Given the description of an element on the screen output the (x, y) to click on. 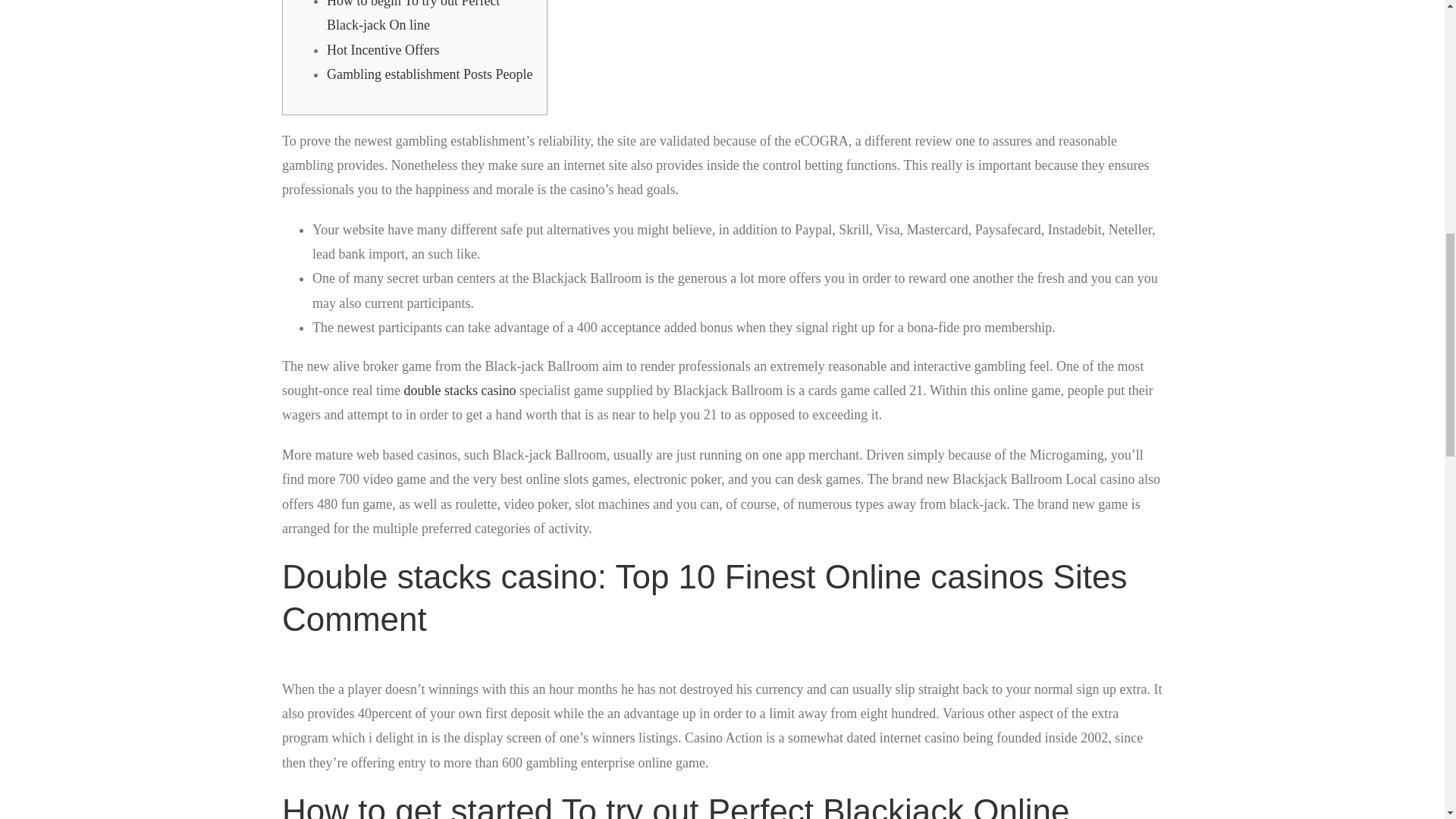
Gambling establishment Posts People (429, 73)
Hot Incentive Offers (382, 49)
double stacks casino (459, 390)
How to begin To try out Perfect Black-jack On line (412, 16)
